Given the description of an element on the screen output the (x, y) to click on. 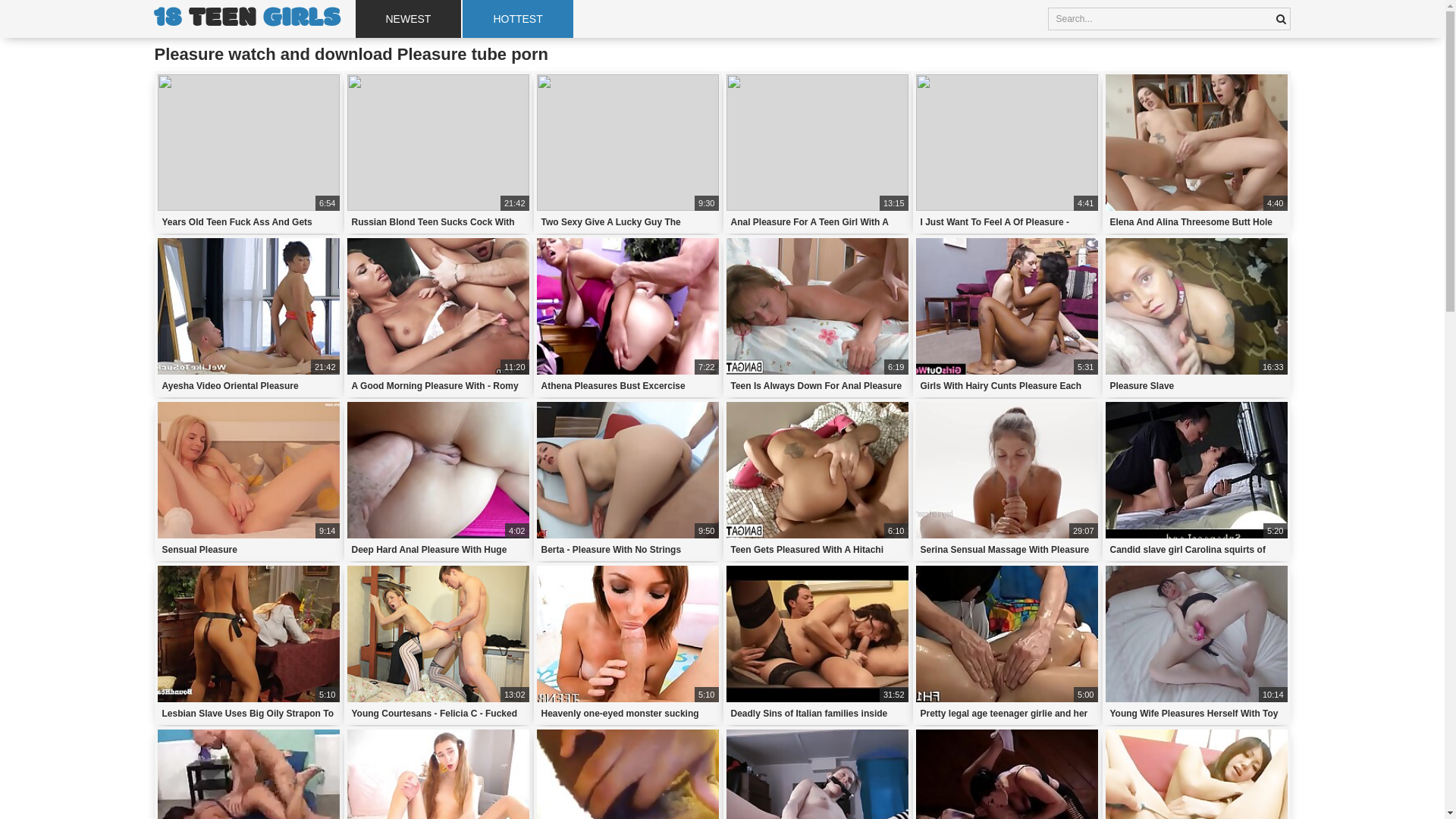
Teen Is Always Down For Anal Pleasure Element type: text (817, 385)
18 TEEN GIRLS Element type: text (247, 18)
I Just Want To Feel A Of Pleasure - Little Bit Element type: text (1007, 221)
Sensual Pleasure Element type: text (248, 549)
Athena Pleasures Bust Excercise Element type: text (627, 385)
Anal Pleasure For A Teen Girl With A Gorgeous Booty Element type: text (817, 221)
Elena And Alina Threesome Butt Hole Pleasures Element type: text (1196, 221)
HOTTEST Element type: text (517, 18)
Pleasure Slave Element type: text (1196, 385)
Girls With Hairy Cunts Pleasure Each Other Element type: text (1007, 385)
Russian Blond Teen Sucks Cock With The Great Pleasure Element type: text (438, 221)
Ayesha Video Oriental Pleasure Element type: text (248, 385)
Heavenly one-eyed monster sucking pleasures Element type: text (627, 713)
Two Sexy Give A Lucky Guy The Ultimate Rimming Pleasure Element type: text (627, 221)
Young Wife Pleasures Herself With Toy Element type: text (1196, 713)
Teen Gets Pleasured With A Hitachi Before Getting Fucked! Element type: text (817, 549)
Berta - Pleasure With No Strings Attached Element type: text (627, 549)
Deadly Sins of Italian families inside the house!!! vol. #03 Element type: text (817, 713)
NEWEST Element type: text (407, 18)
Deep Hard Anal Pleasure With Huge Dick For My Mate Element type: text (438, 549)
A Good Morning Pleasure With - Romy Indy Element type: text (438, 385)
Serina Sensual Massage With Pleasure Element type: text (1007, 549)
